Given the description of an element on the screen output the (x, y) to click on. 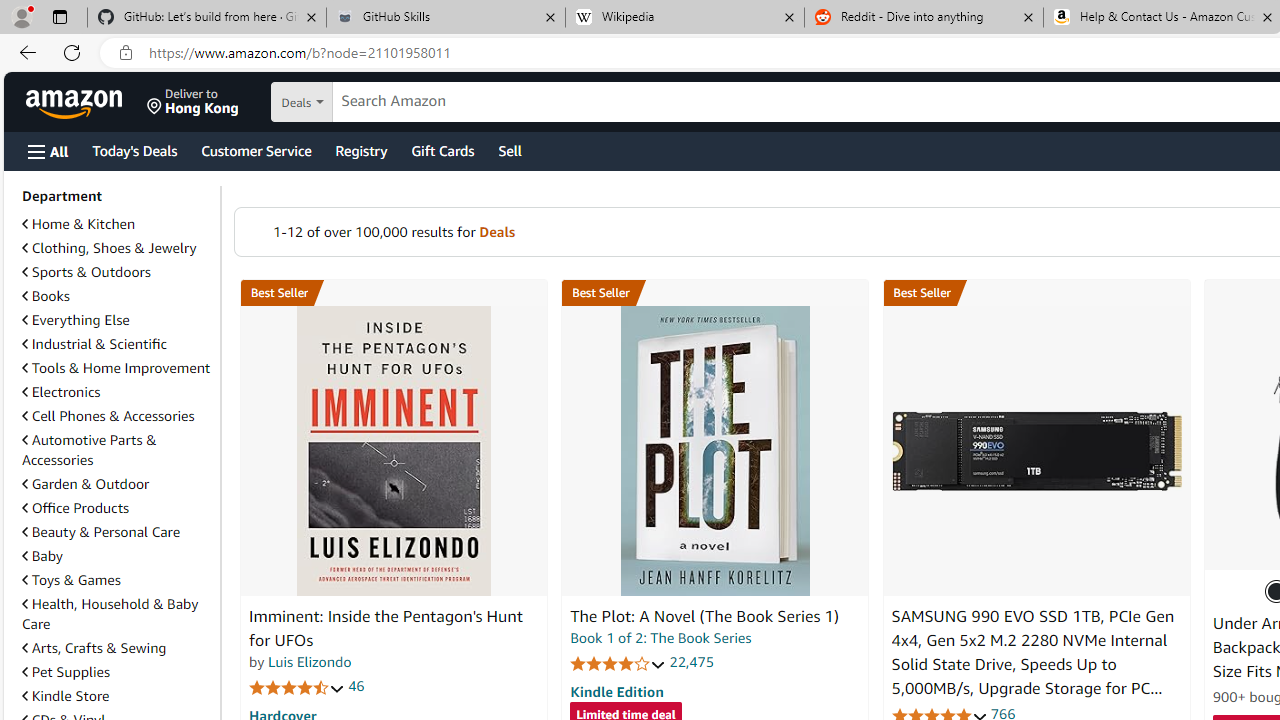
Sell (509, 150)
Toys & Games (71, 579)
4.7 out of 5 stars (297, 686)
Customer Service (256, 150)
Kindle Store (117, 696)
Health, Household & Baby Care (117, 614)
Amazon (76, 101)
Pet Supplies (117, 671)
Home & Kitchen (78, 224)
Gift Cards (442, 150)
Automotive Parts & Accessories (89, 449)
Garden & Outdoor (85, 484)
Arts, Crafts & Sewing (117, 647)
Toys & Games (117, 579)
